Given the description of an element on the screen output the (x, y) to click on. 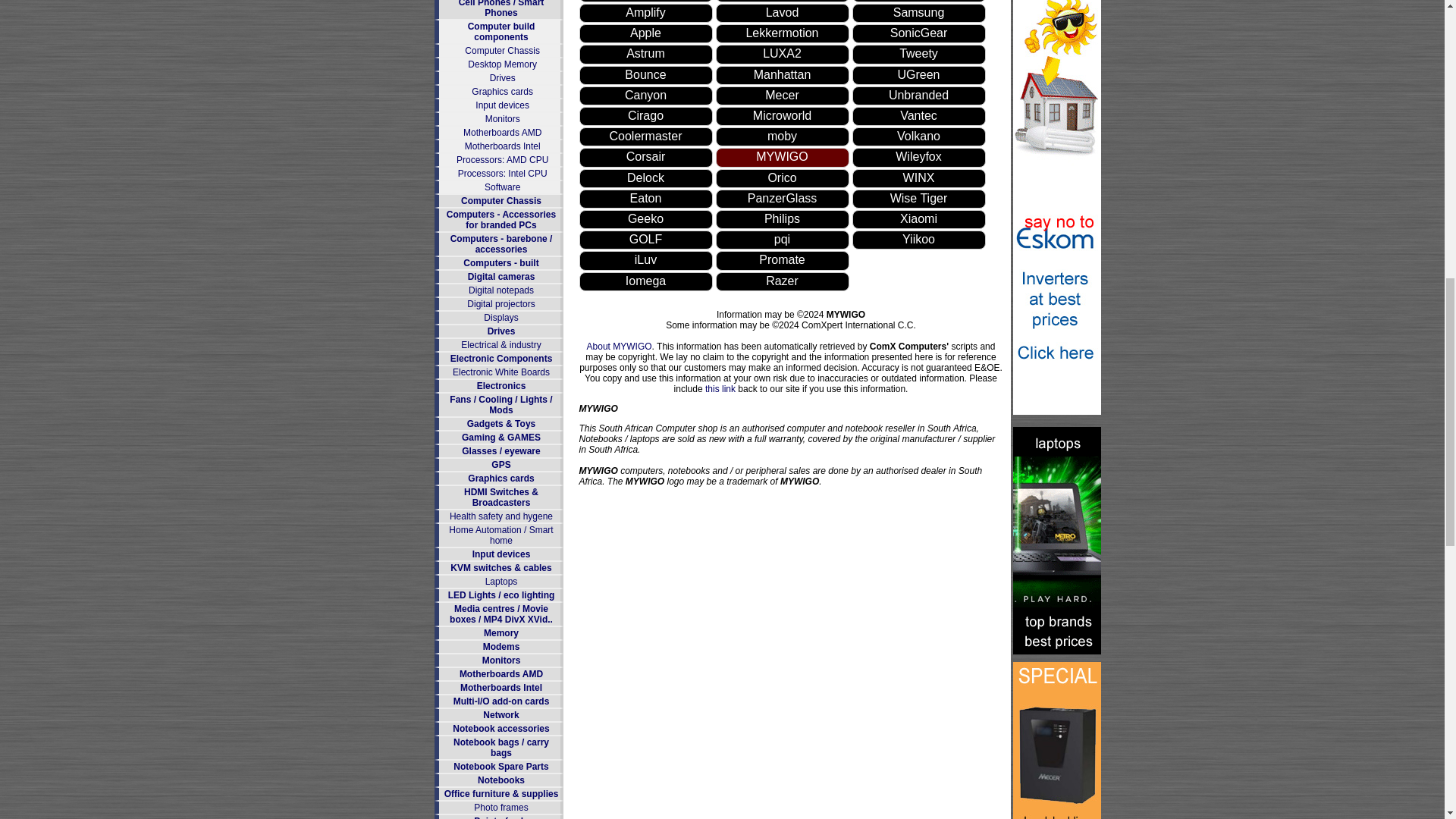
Displays (500, 317)
Digital notepads (501, 290)
Laptops (501, 581)
Health safety and hygene (501, 516)
Digital projectors (500, 303)
Electronic White Boards (501, 371)
Photo frames (500, 807)
